Given the description of an element on the screen output the (x, y) to click on. 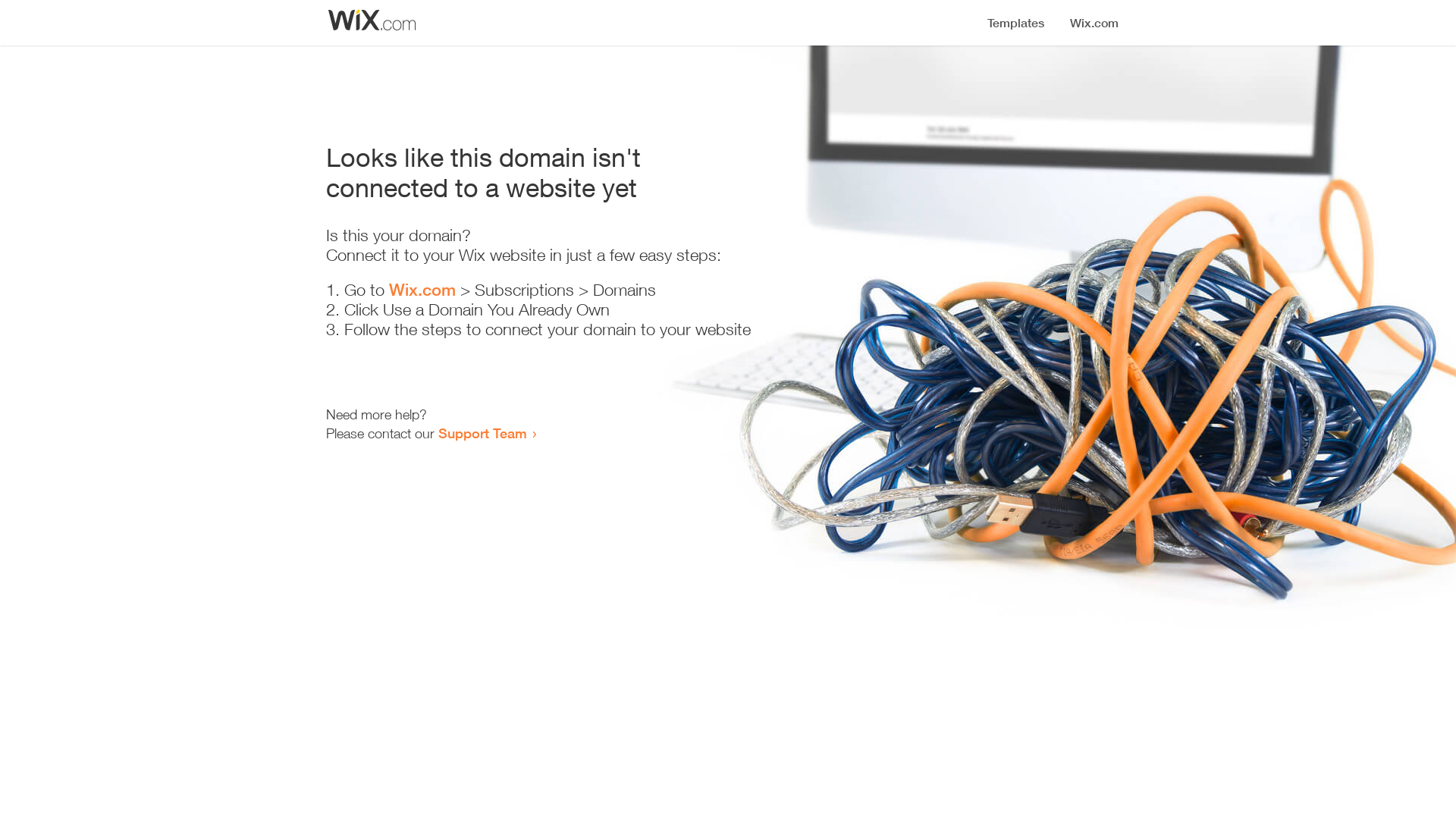
Wix.com Element type: text (422, 289)
Support Team Element type: text (482, 432)
